Given the description of an element on the screen output the (x, y) to click on. 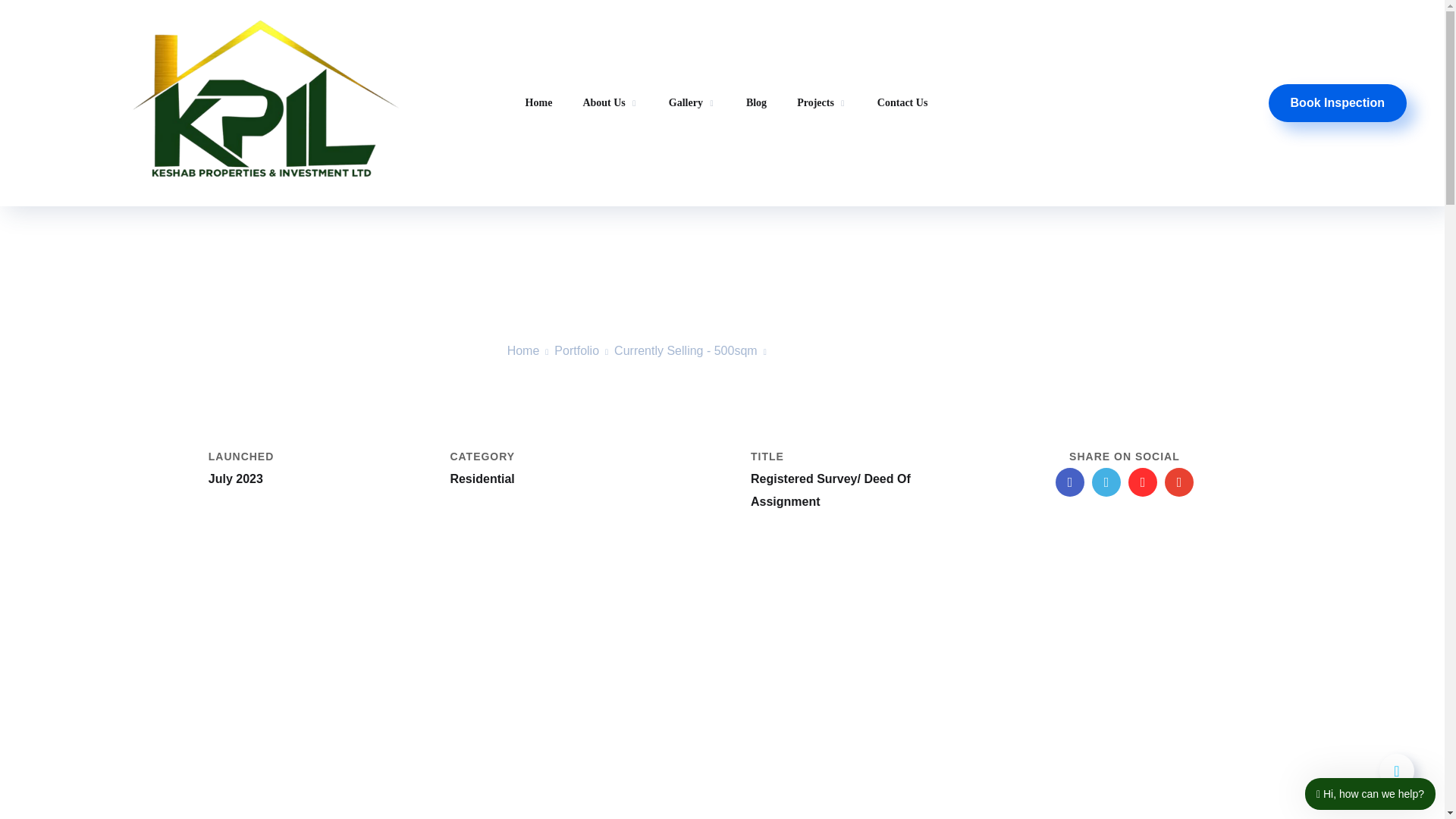
Projects (821, 102)
About Us (609, 105)
Home (523, 350)
Gallery (692, 102)
Book Inspection (1337, 103)
Portfolio (576, 350)
Currently Selling - 500sqm (685, 350)
Contact Us (902, 102)
